Given the description of an element on the screen output the (x, y) to click on. 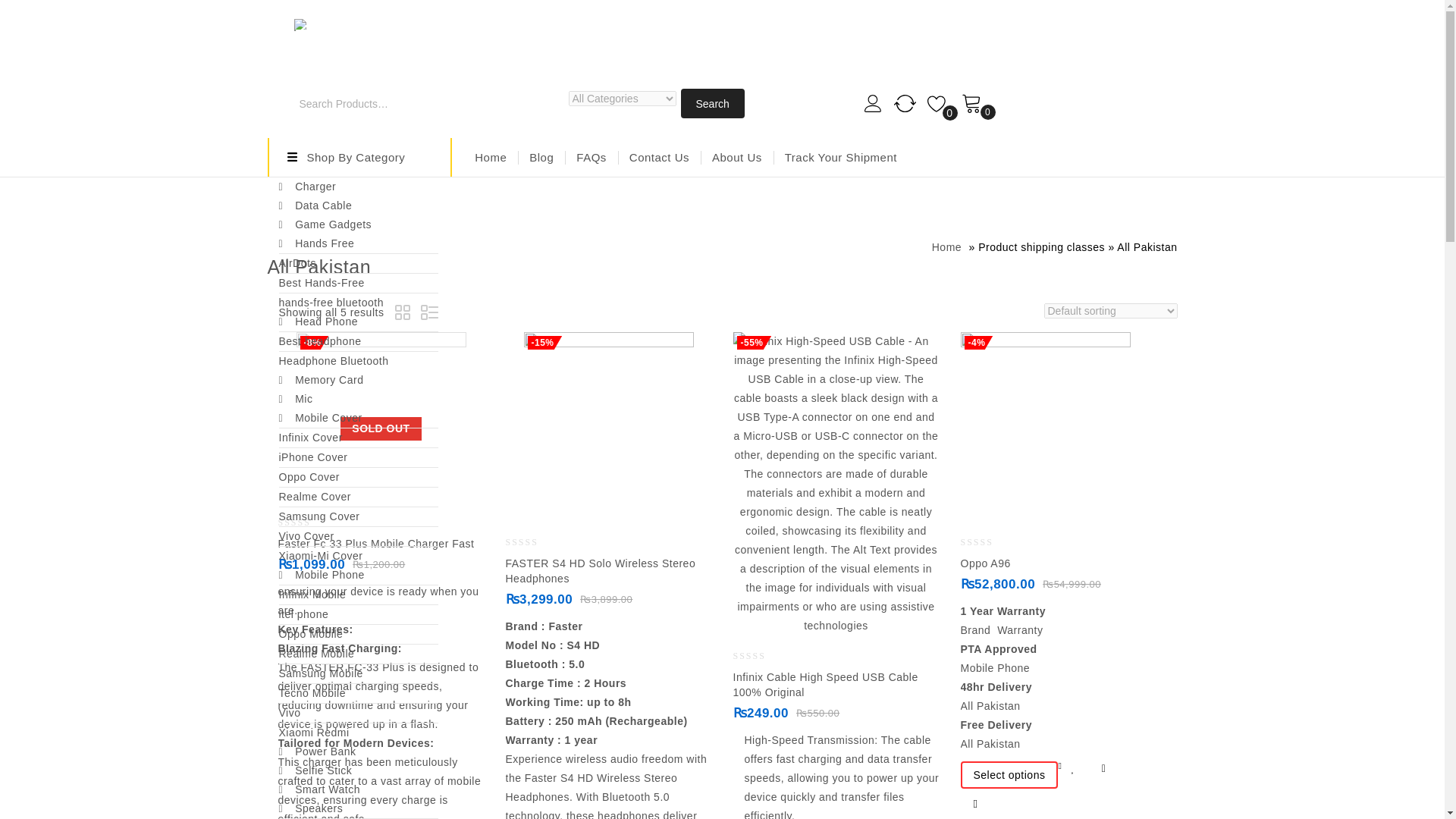
Power Bank (358, 751)
List view (430, 314)
Oppo Cover (358, 476)
Mic (358, 398)
Realme Mobile (358, 653)
iPhone Cover (358, 456)
Best Hands-Free (358, 282)
Not yet rated (761, 655)
Xiaomi-Mi Cover (358, 556)
Samsung Cover (358, 516)
Data Cable (358, 205)
Oppo Mobile (358, 633)
Samsung Mobile (358, 673)
Not yet rated (988, 541)
Not yet rated (307, 521)
